Given the description of an element on the screen output the (x, y) to click on. 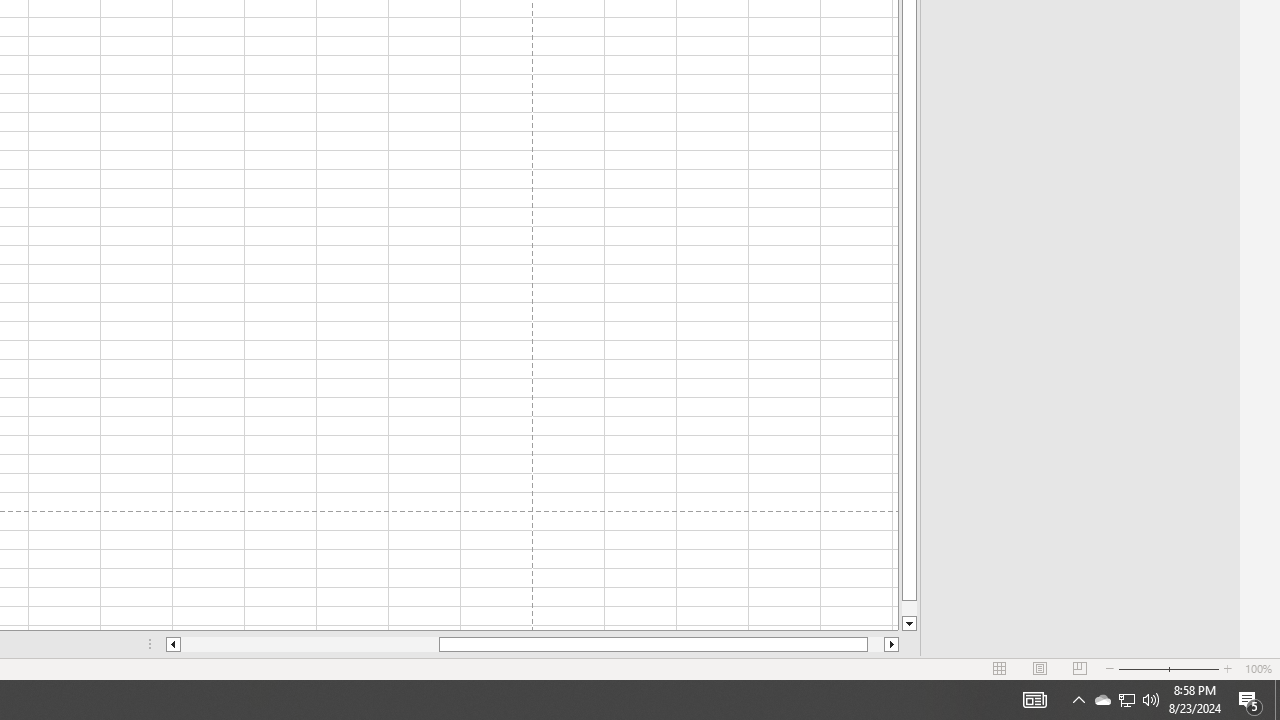
Show desktop (1277, 699)
Action Center, 5 new notifications (1126, 699)
